Given the description of an element on the screen output the (x, y) to click on. 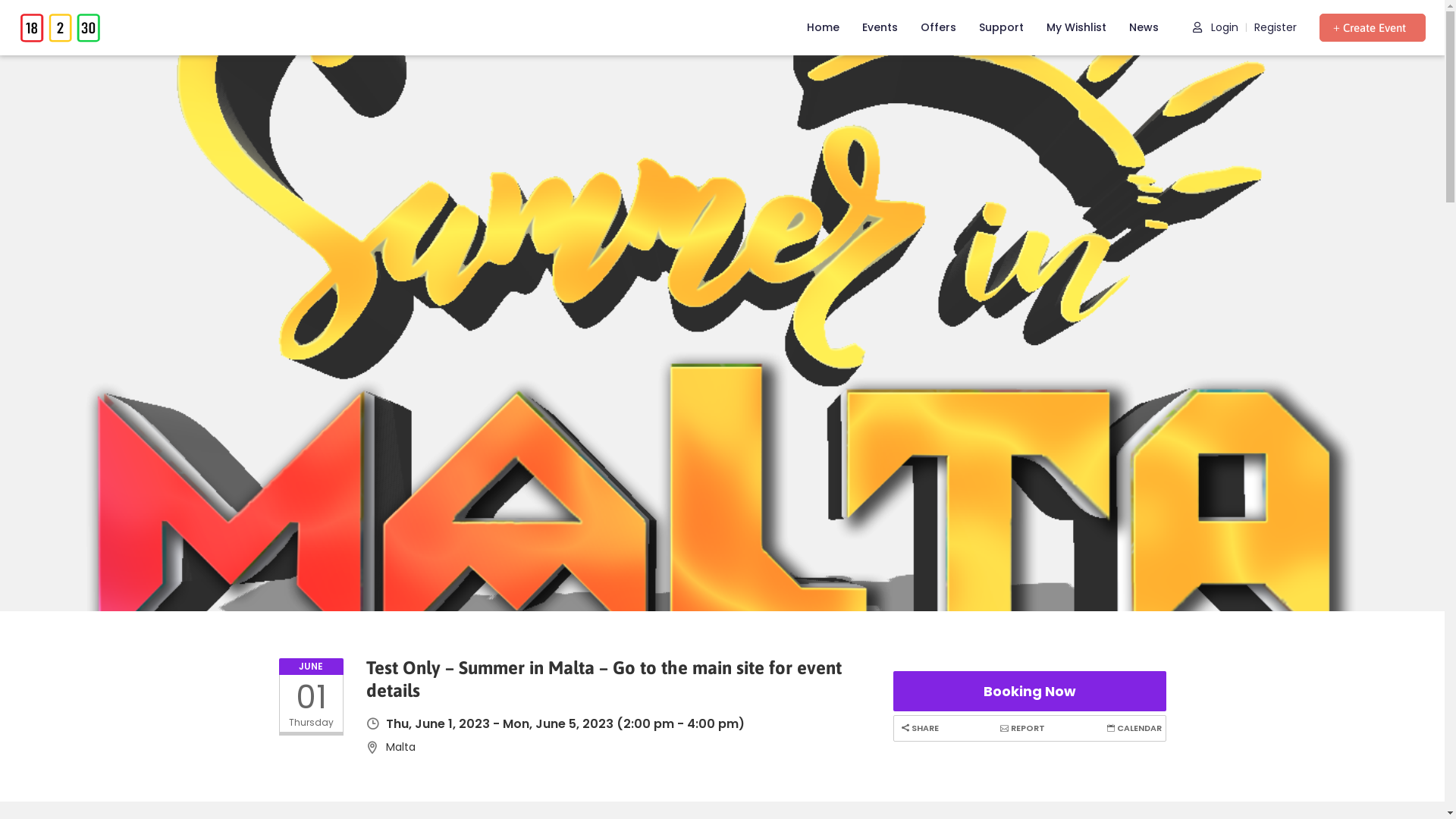
Offers Element type: text (938, 27)
Events Element type: text (879, 27)
My Wishlist Element type: text (1076, 27)
Support Element type: text (1001, 27)
News Element type: text (1143, 27)
Register Element type: text (1275, 27)
Booking Now Element type: text (1029, 691)
Create Event Element type: text (1372, 27)
REPORT Element type: text (1020, 727)
Login Element type: text (1215, 27)
SHARE Element type: text (917, 727)
Home Element type: text (822, 27)
CALENDAR Element type: text (1131, 727)
